Given the description of an element on the screen output the (x, y) to click on. 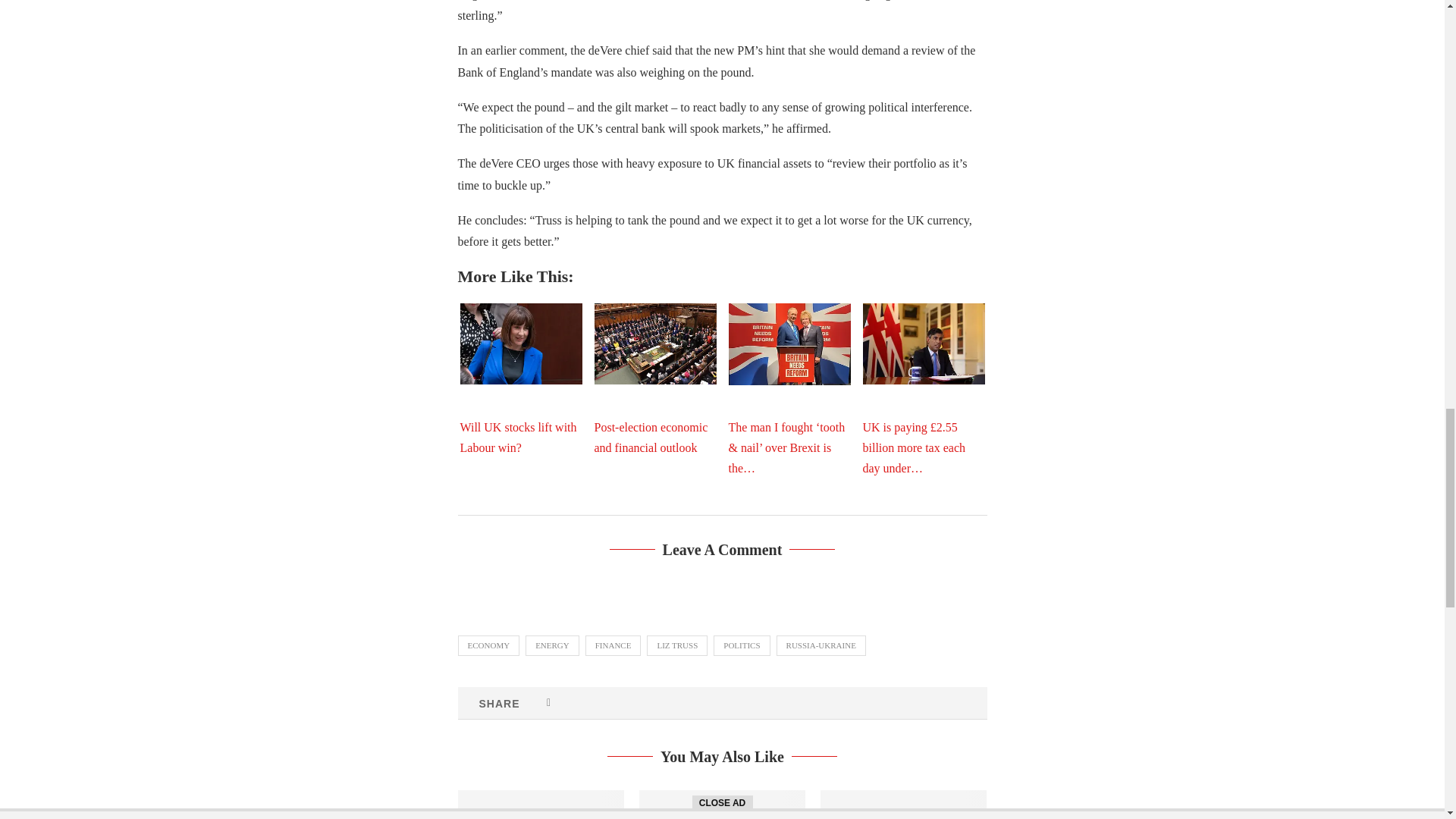
Post-election economic and financial outlook (655, 343)
Gold falls on profit taking (541, 804)
Will UK stocks lift with Labour win? (520, 343)
